Given the description of an element on the screen output the (x, y) to click on. 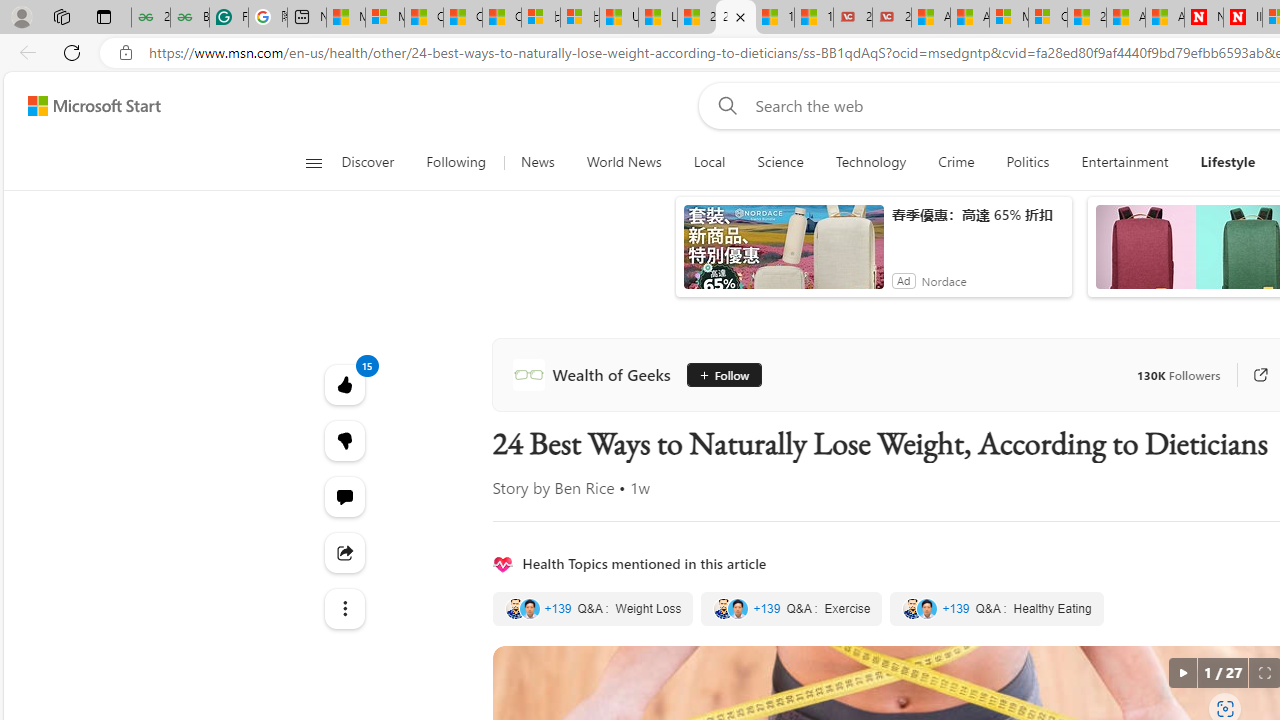
Newsweek - News, Analysis, Politics, Business, Technology (1203, 17)
